Given the description of an element on the screen output the (x, y) to click on. 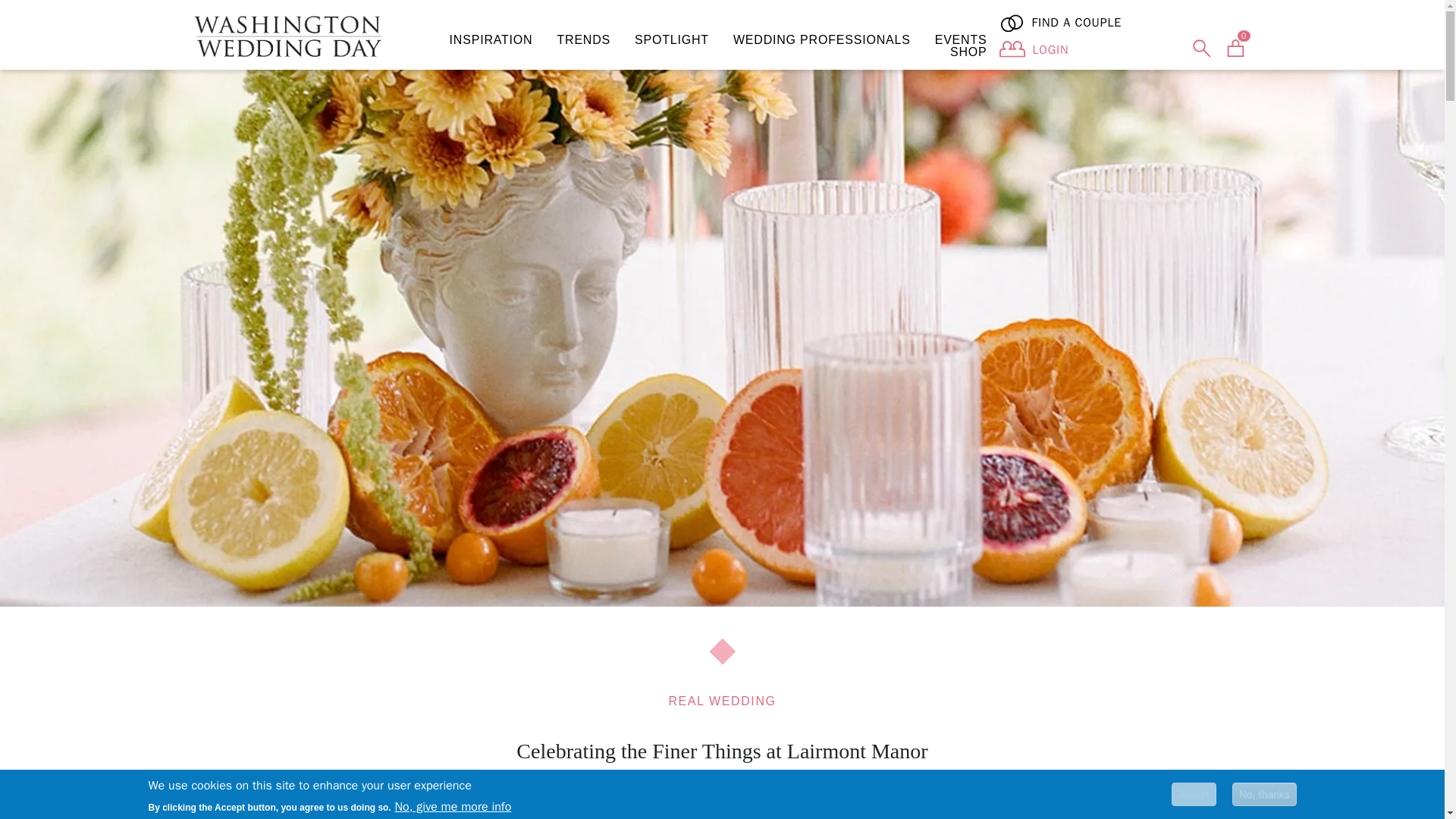
TRENDS (583, 39)
INSPIRATION (491, 39)
SHOP (967, 51)
FIND A COUPLE (1125, 22)
Home (293, 36)
Skip to main content (60, 10)
WEDDING PROFESSIONALS (821, 39)
EVENTS (960, 39)
LOGIN (1050, 49)
REAL WEDDING (722, 700)
SPOTLIGHT (671, 39)
